Given the description of an element on the screen output the (x, y) to click on. 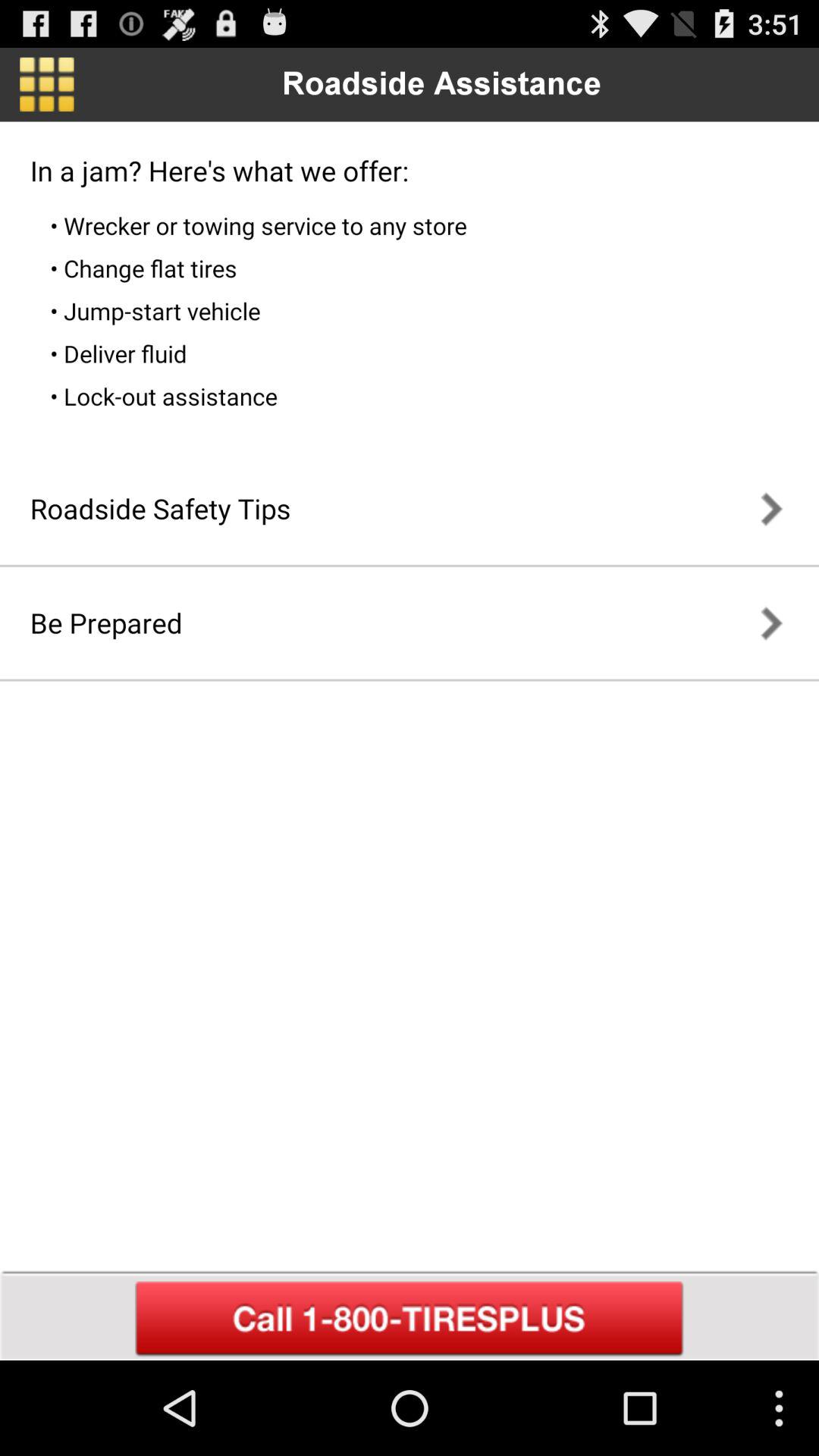
choose roadside safety tips app (160, 508)
